Given the description of an element on the screen output the (x, y) to click on. 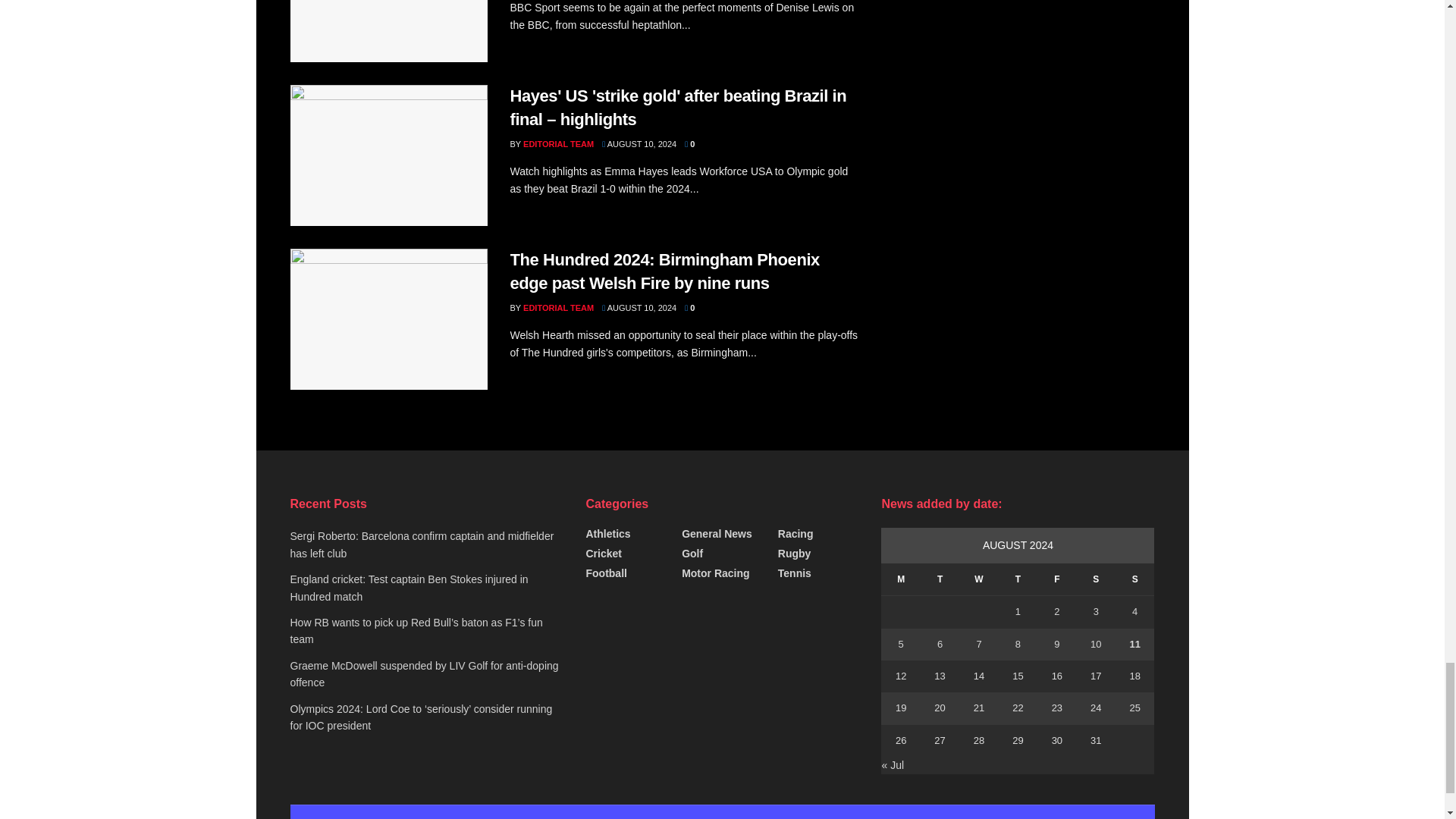
Friday (1055, 579)
Saturday (1096, 579)
Sunday (1134, 579)
Wednesday (978, 579)
Tuesday (939, 579)
Monday (900, 579)
Thursday (1017, 579)
